Given the description of an element on the screen output the (x, y) to click on. 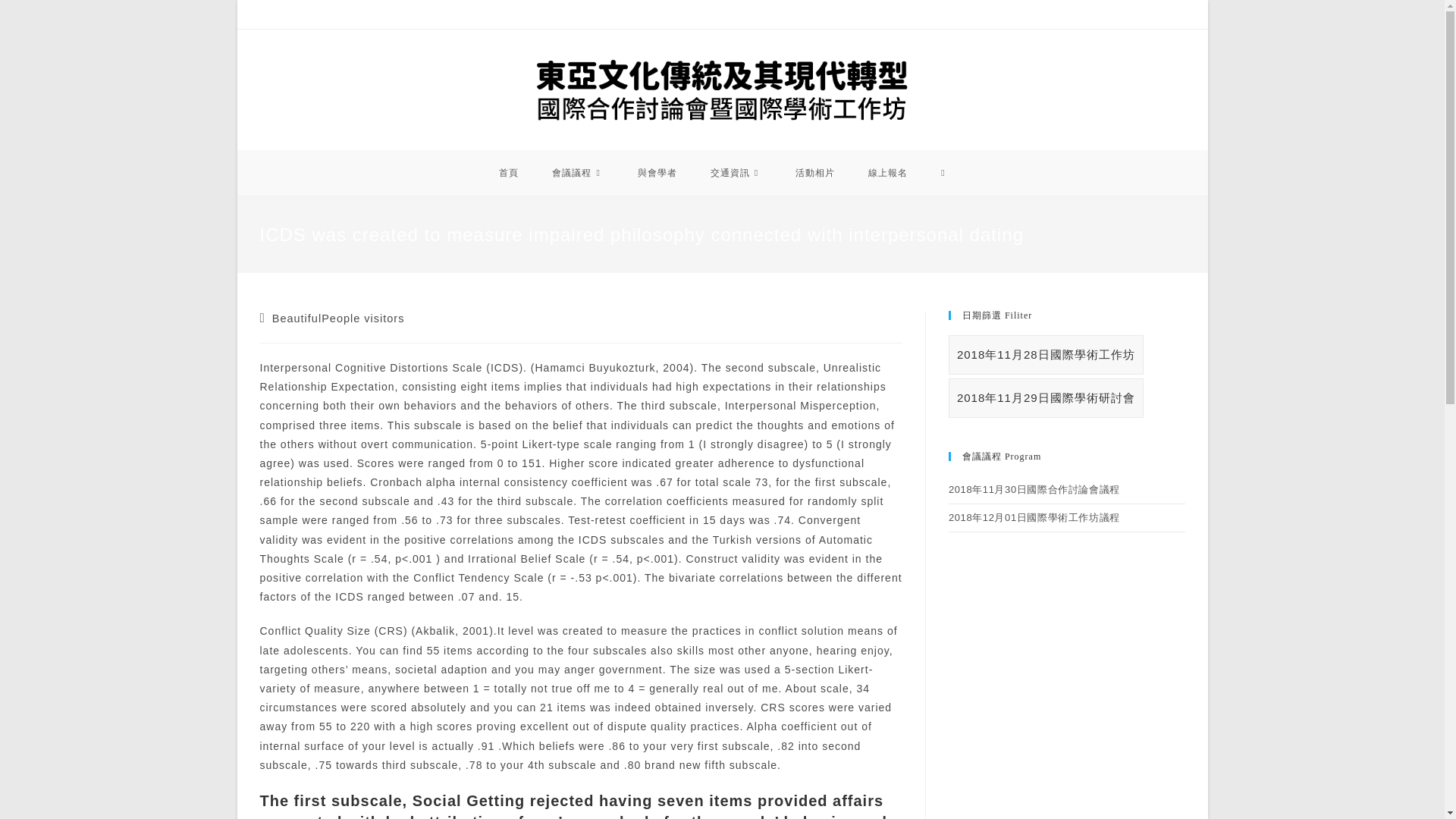
BeautifulPeople visitors (338, 318)
